Given the description of an element on the screen output the (x, y) to click on. 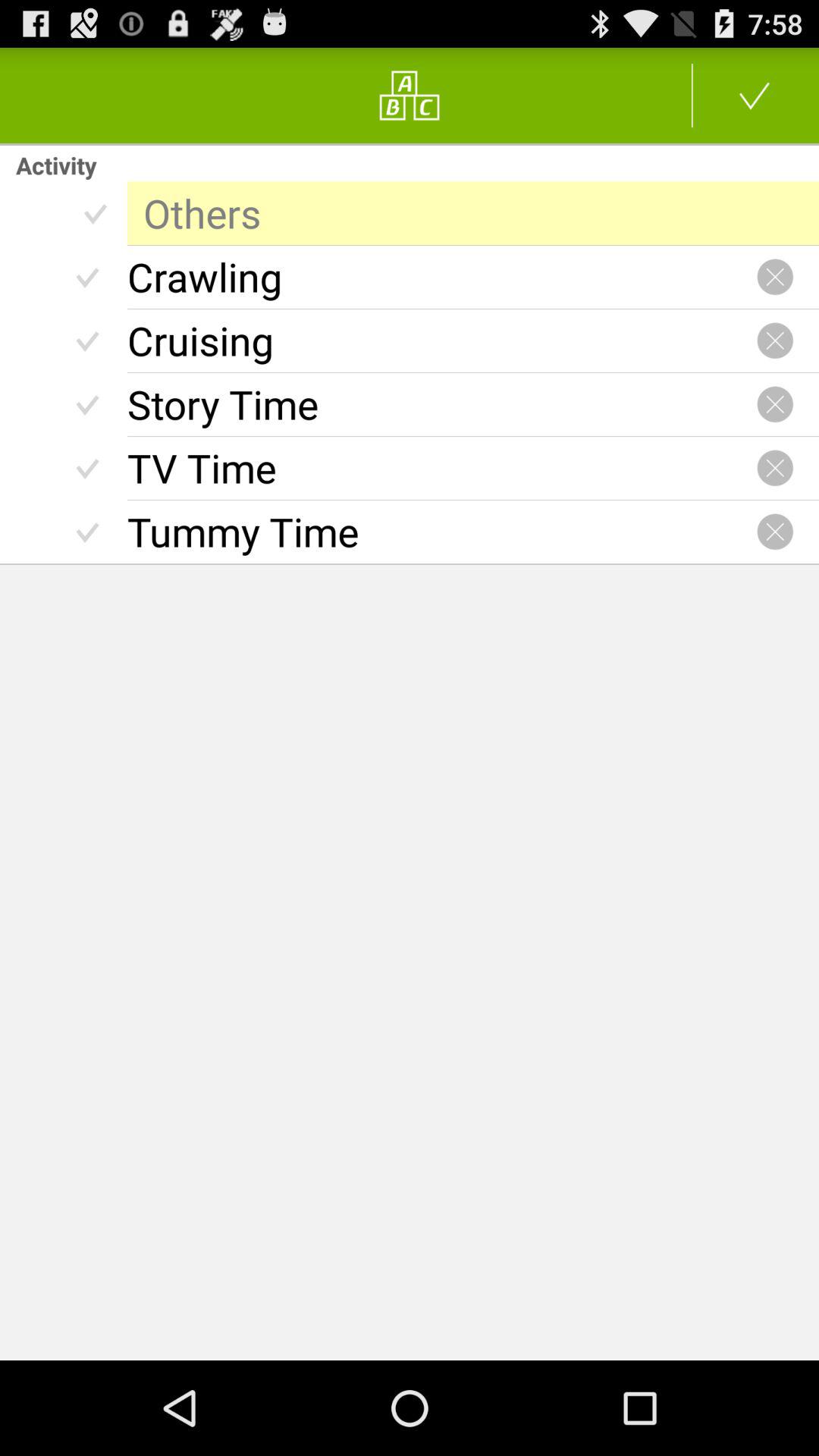
click to delete (775, 531)
